Given the description of an element on the screen output the (x, y) to click on. 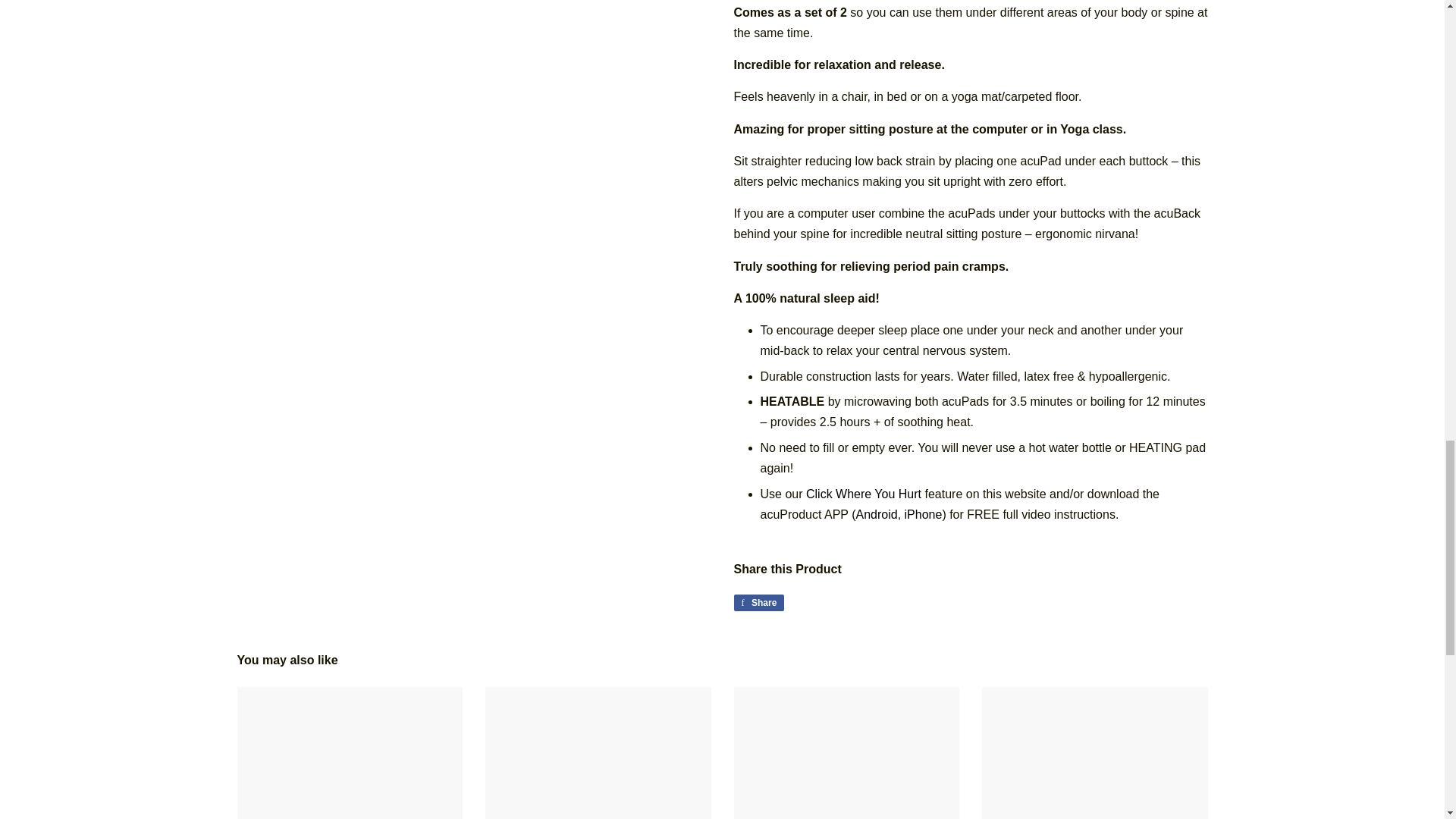
iPhone (923, 513)
Android (876, 513)
Click Where You Hurt (863, 493)
Share on Facebook (758, 602)
